Given the description of an element on the screen output the (x, y) to click on. 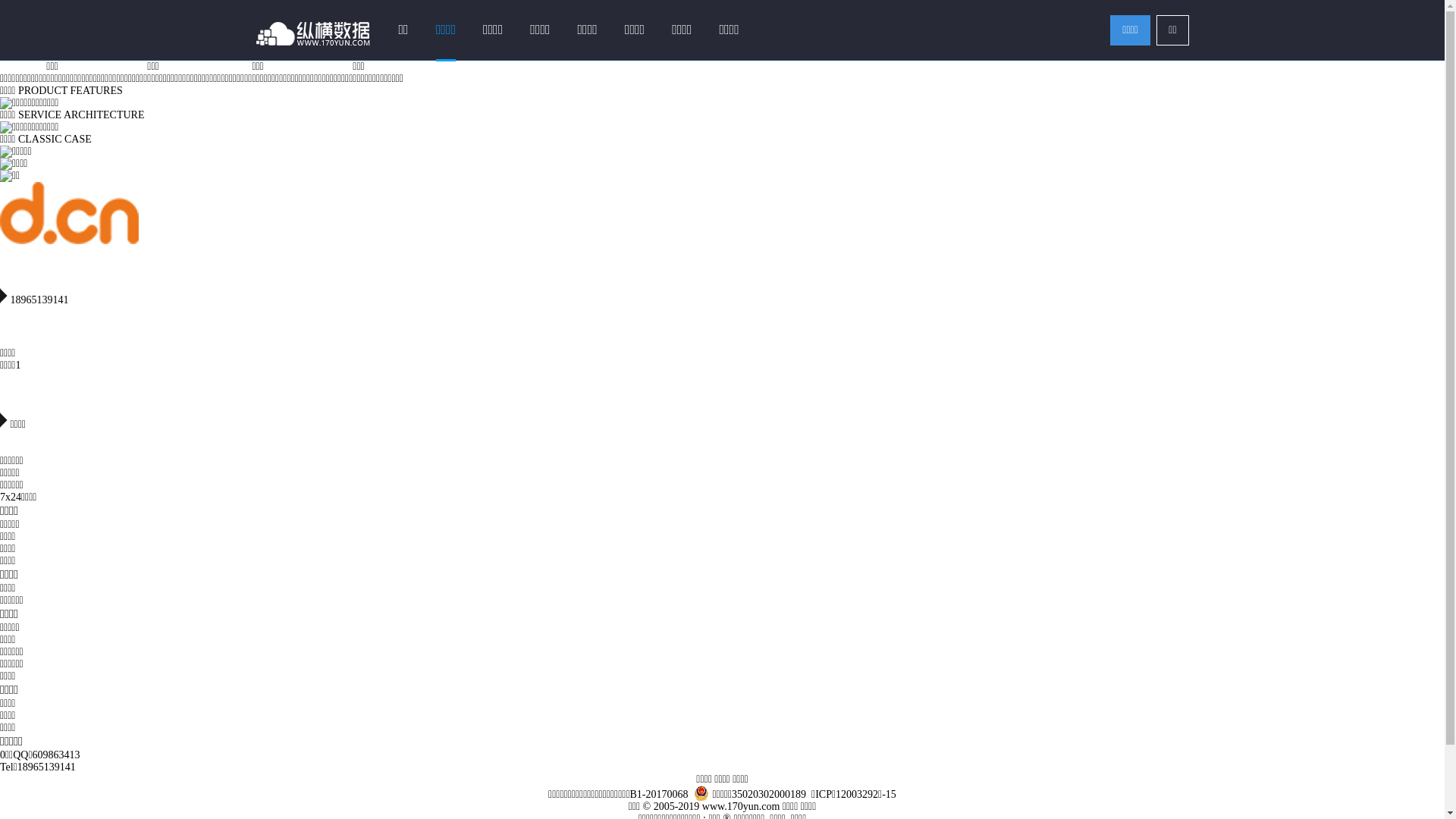
609863413 Element type: text (56, 754)
18965139141 Element type: text (722, 291)
www.170yun.com Element type: text (741, 806)
18965139141 Element type: text (46, 766)
